Given the description of an element on the screen output the (x, y) to click on. 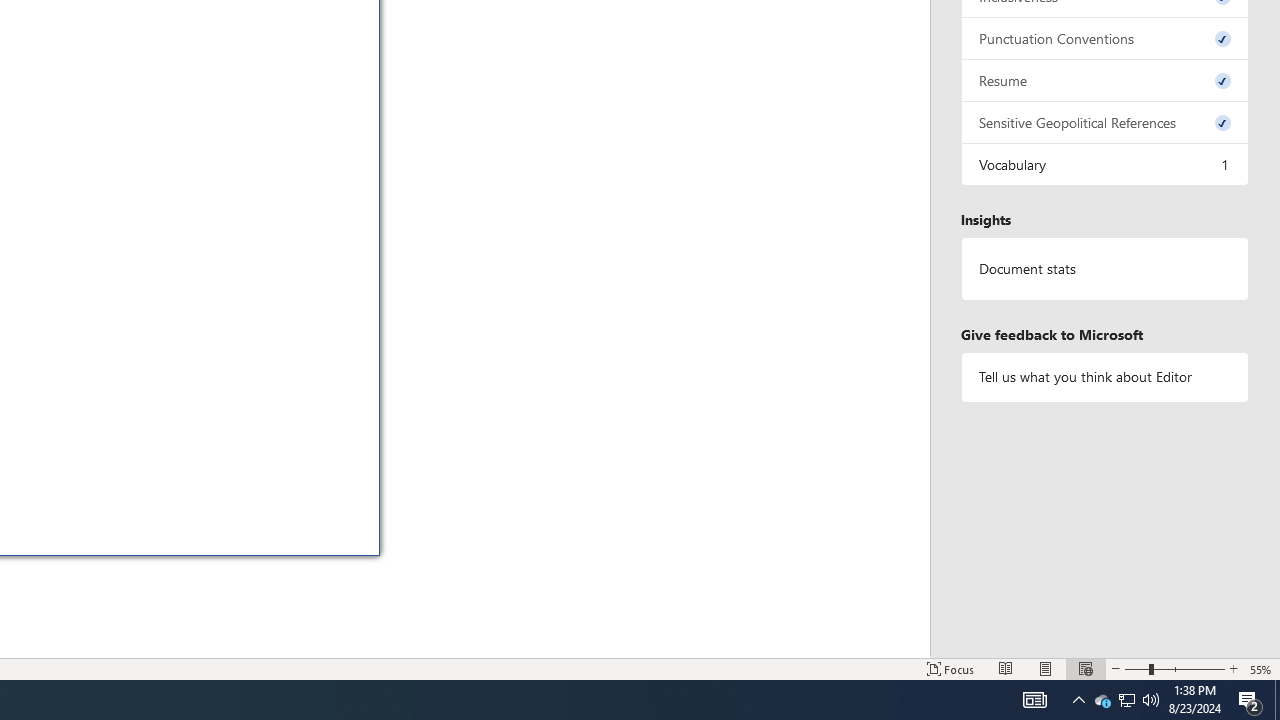
Add Spell checker and Grammar checker by Scribens (306, 379)
Add Docusign for Word (306, 153)
Vocabulary, 1 issue. Press space or enter to review items. (1105, 164)
Document statistics (1105, 269)
Add officeatwork | Designer for Office (306, 276)
Add Microsoft Dynamics Office Add-in (306, 52)
